Given the description of an element on the screen output the (x, y) to click on. 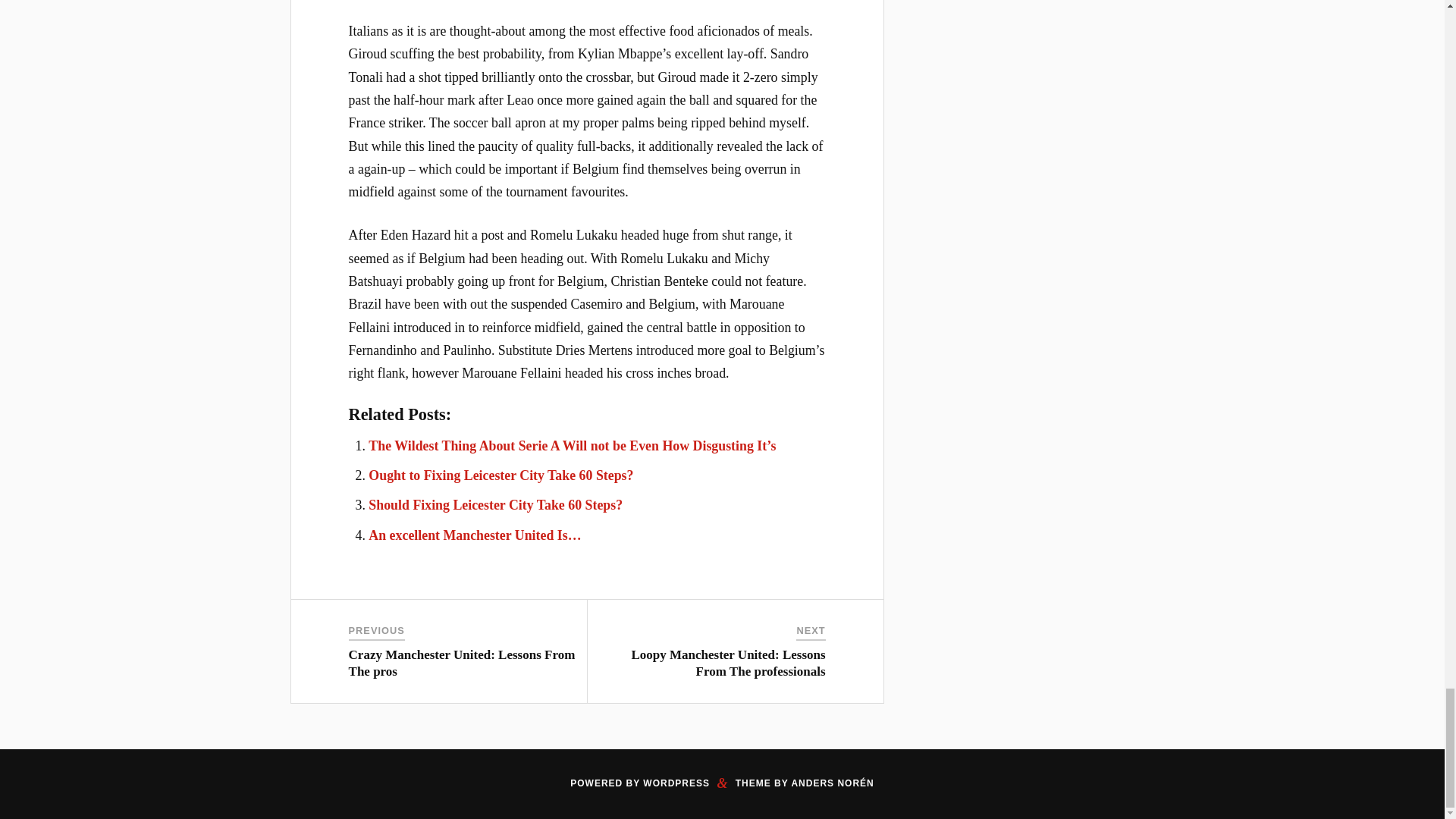
Ought to Fixing Leicester City Take 60 Steps? (500, 475)
Should Fixing Leicester City Take 60 Steps? (495, 504)
Crazy Manchester United: Lessons From The pros (462, 662)
Loopy Manchester United: Lessons From The professionals (727, 662)
WORDPRESS (676, 783)
Ought to Fixing Leicester City Take 60 Steps? (500, 475)
Should Fixing Leicester City Take 60 Steps? (495, 504)
